Given the description of an element on the screen output the (x, y) to click on. 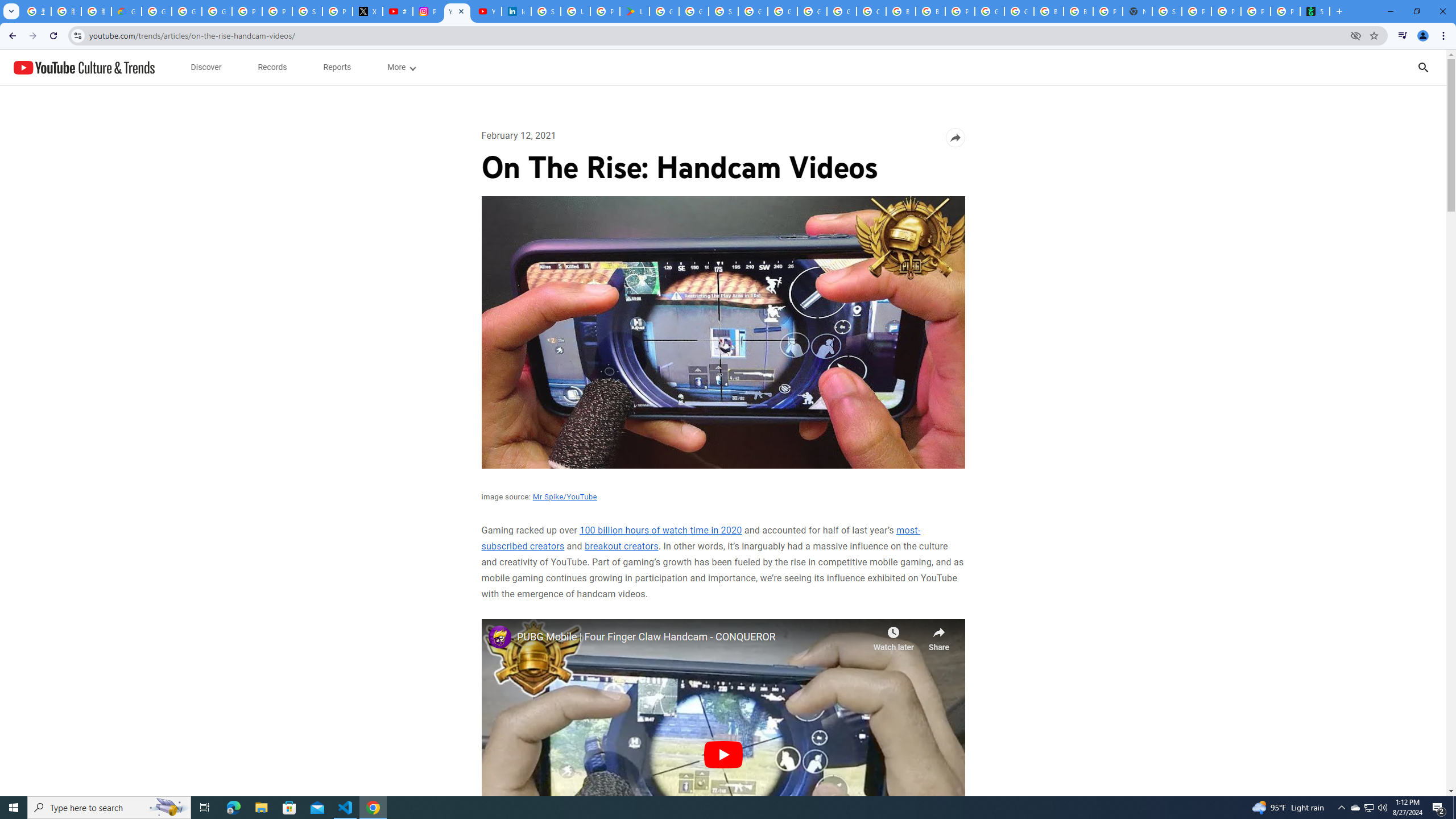
subnav-Discover menupopup (205, 67)
subnav-Records menupopup (271, 67)
Sign in - Google Accounts (723, 11)
most-subscribed creators (700, 538)
JUMP TO CONTENT (118, 67)
Play (722, 754)
Toggle share toolbar open/closed (954, 137)
subnav-More menupopup (400, 67)
100 billion hours of watch time in 2020 (660, 530)
